Given the description of an element on the screen output the (x, y) to click on. 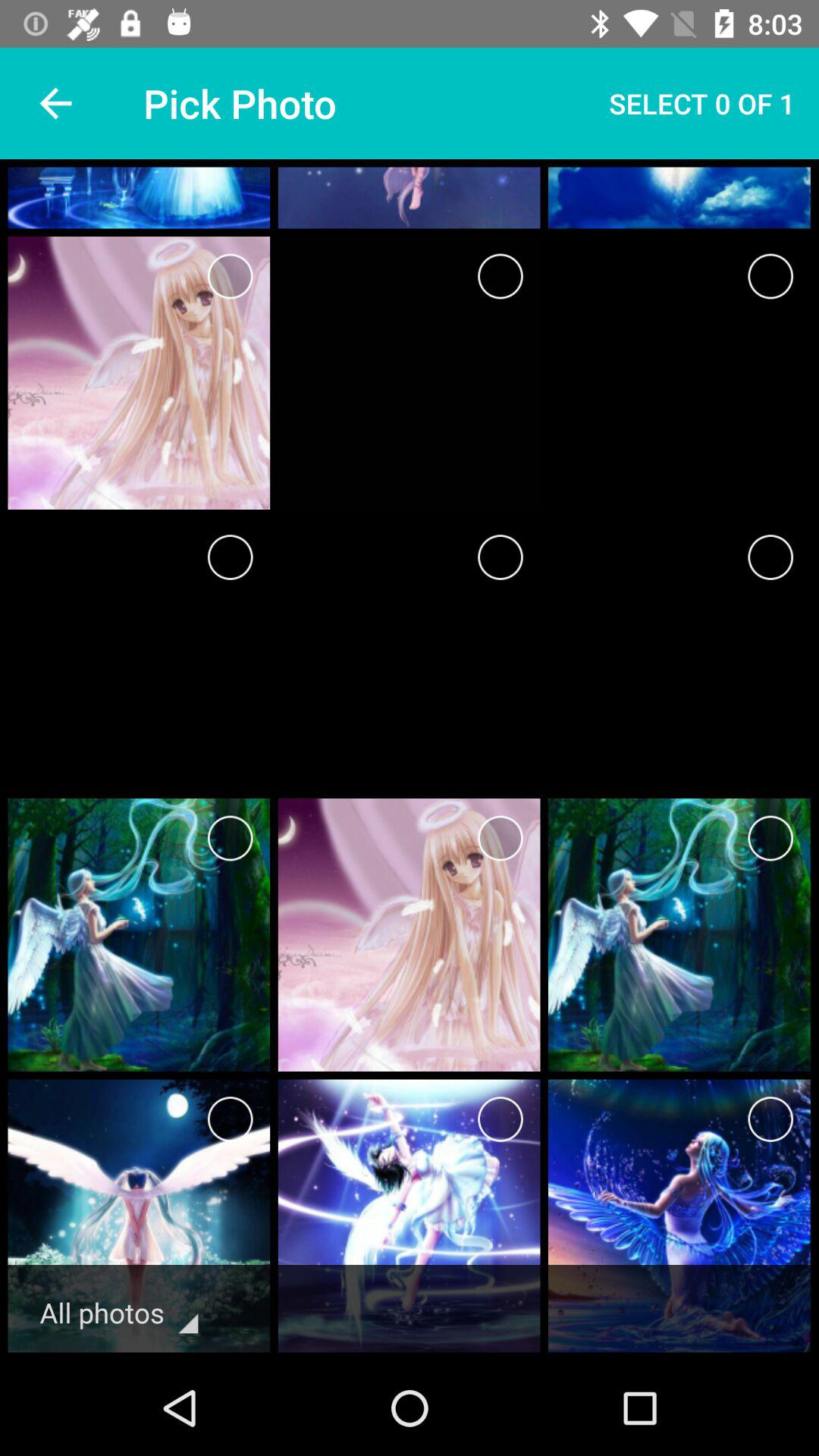
add to selection (230, 1119)
